Given the description of an element on the screen output the (x, y) to click on. 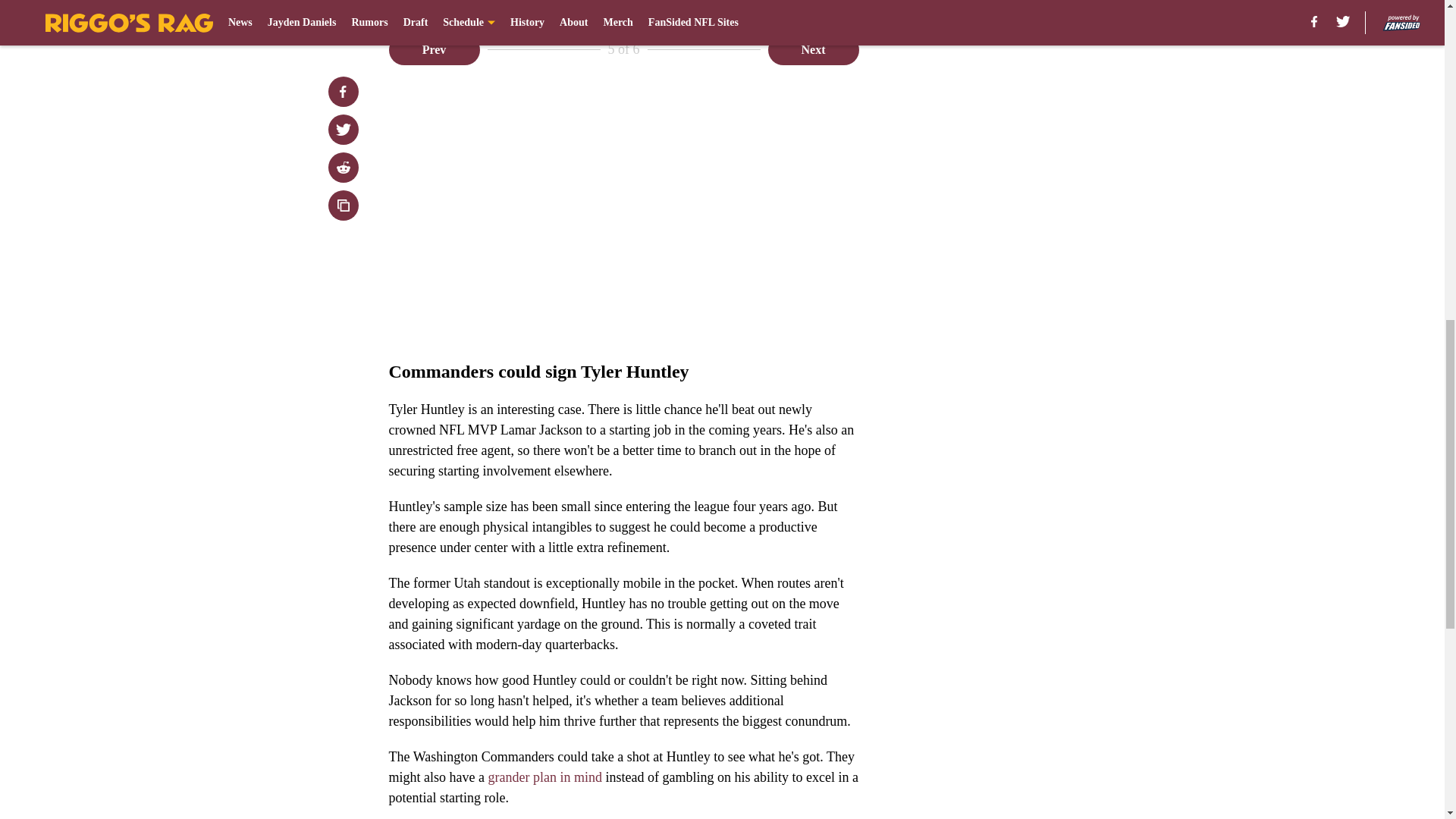
grander plan in mind (544, 776)
Next (813, 50)
Prev (433, 50)
